Given the description of an element on the screen output the (x, y) to click on. 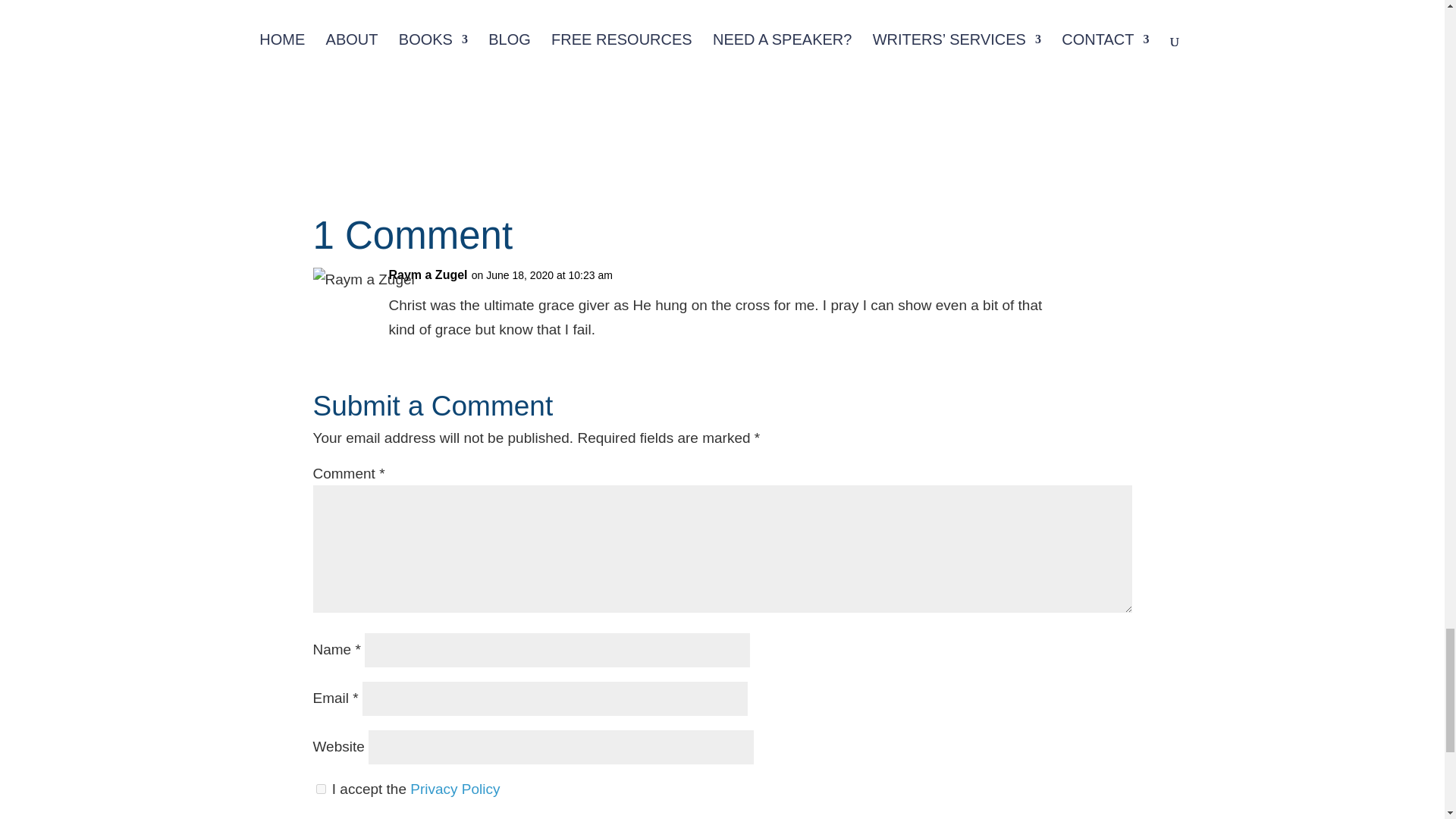
1 (319, 788)
